Given the description of an element on the screen output the (x, y) to click on. 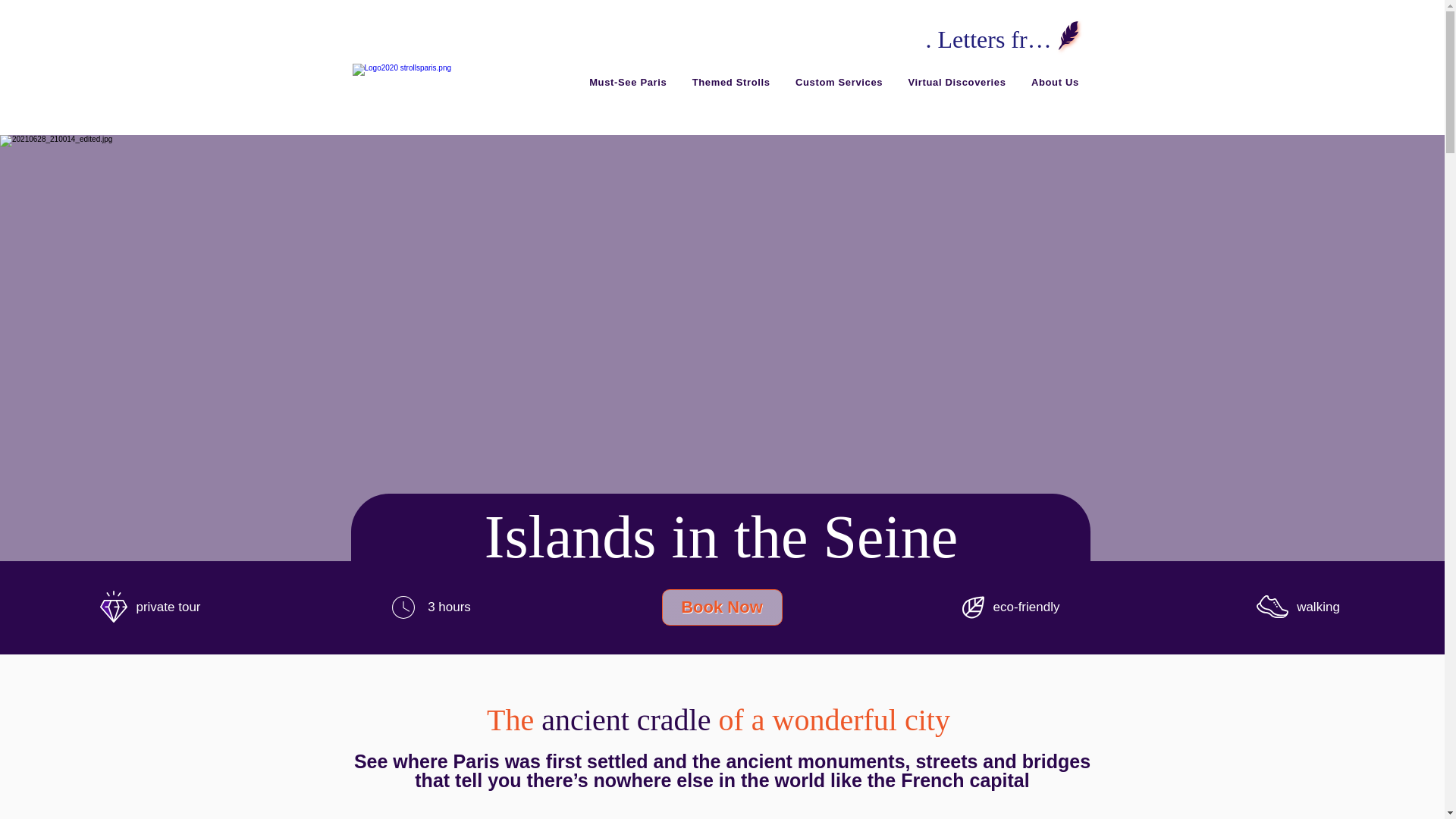
Must-See Paris (627, 82)
Virtual Discoveries (956, 82)
. Letters from Paris (991, 39)
Book Now (721, 606)
Custom Services (839, 82)
Themed Strolls (731, 82)
About Us (1053, 82)
